Given the description of an element on the screen output the (x, y) to click on. 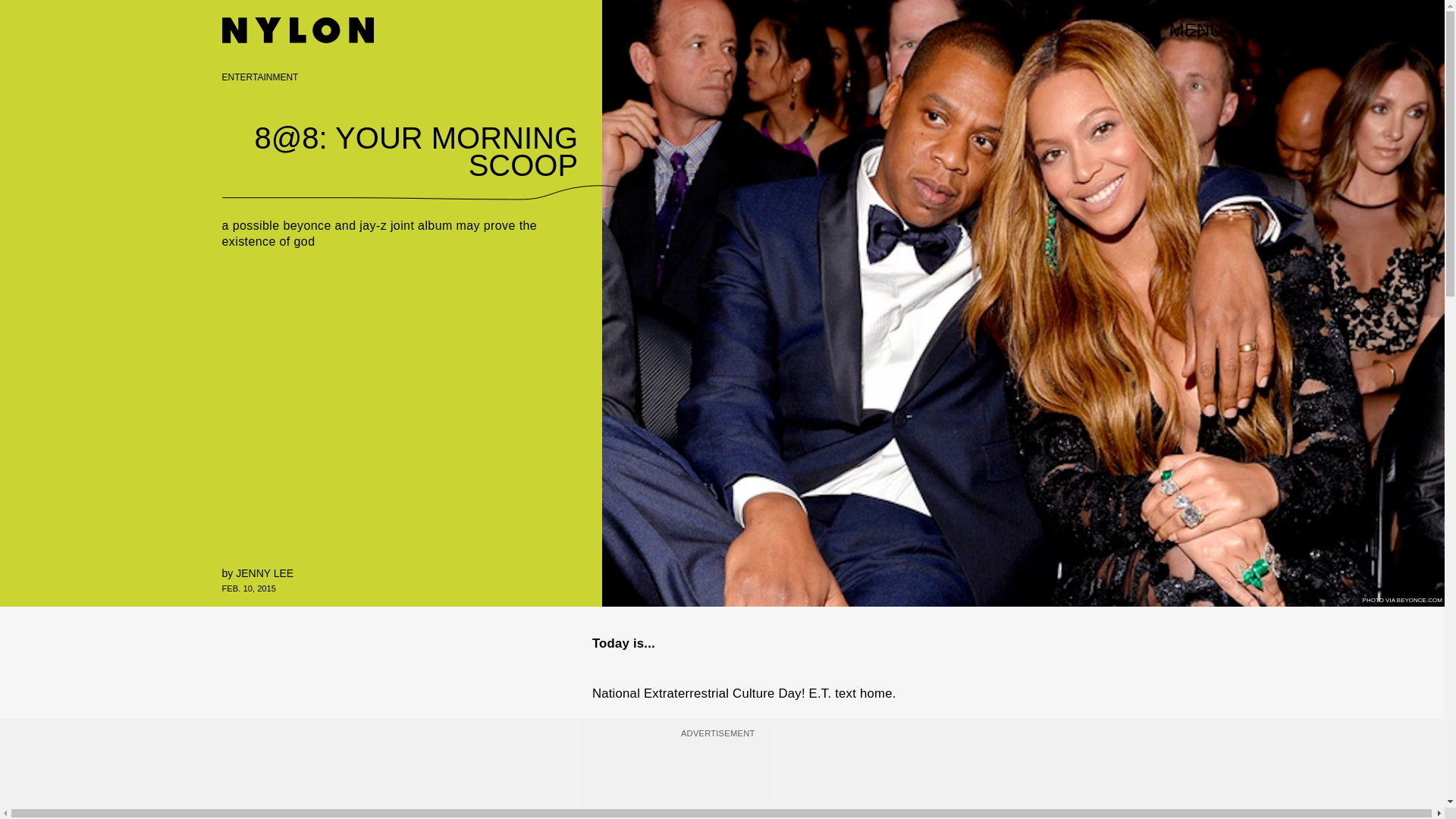
Nylon (296, 30)
